Given the description of an element on the screen output the (x, y) to click on. 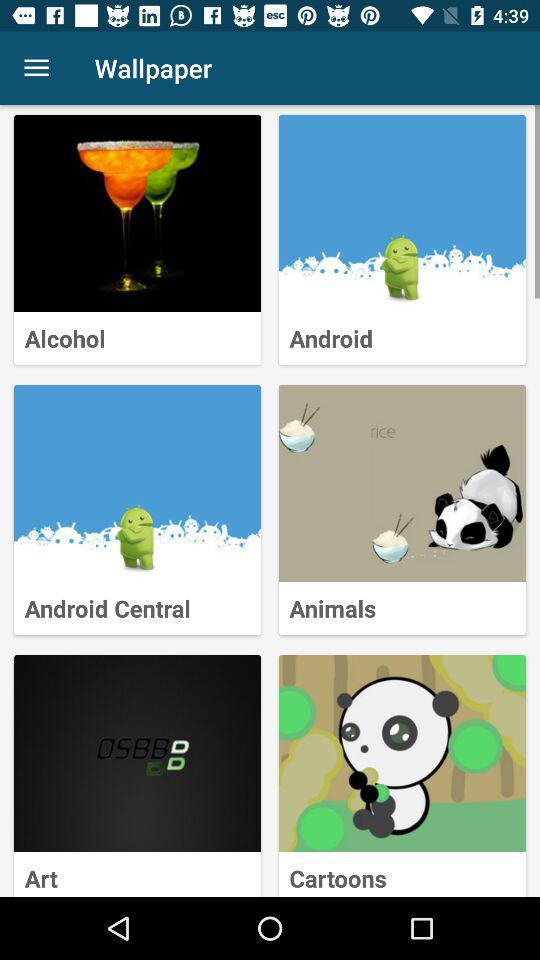
select icon to the left of the wallpaper item (36, 68)
